Given the description of an element on the screen output the (x, y) to click on. 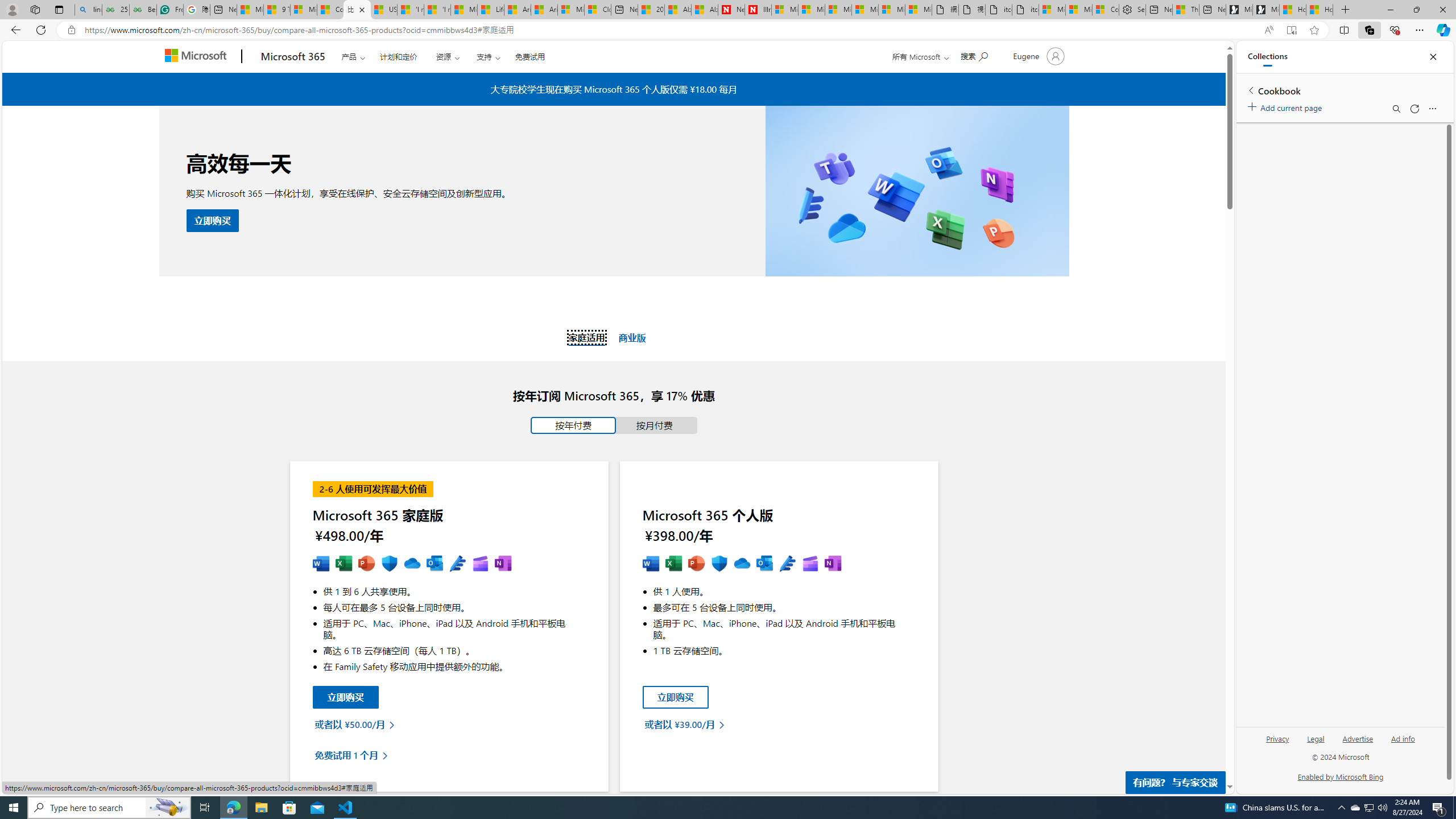
MS OneNote (832, 563)
25 Basic Linux Commands For Beginners - GeeksforGeeks (115, 9)
MS Outlook  (764, 563)
